Given the description of an element on the screen output the (x, y) to click on. 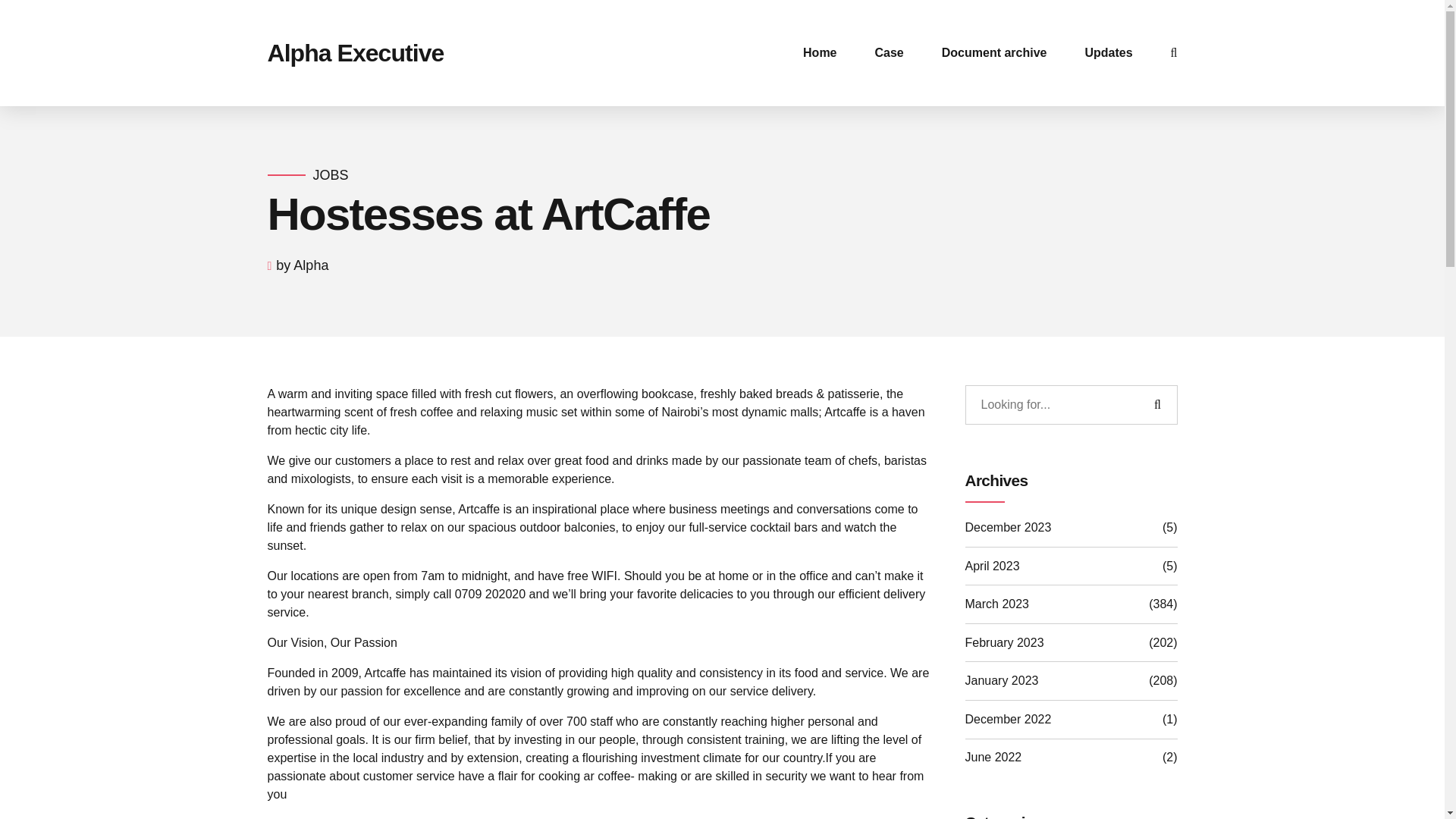
June 2022 (992, 757)
by Alpha (302, 265)
March 2023 (996, 604)
January 2023 (1000, 680)
JOBS (330, 175)
April 2023 (991, 565)
Document archive (994, 53)
Alpha Executive (355, 52)
December 2023 (1007, 527)
February 2023 (1003, 642)
December 2022 (1007, 719)
